Given the description of an element on the screen output the (x, y) to click on. 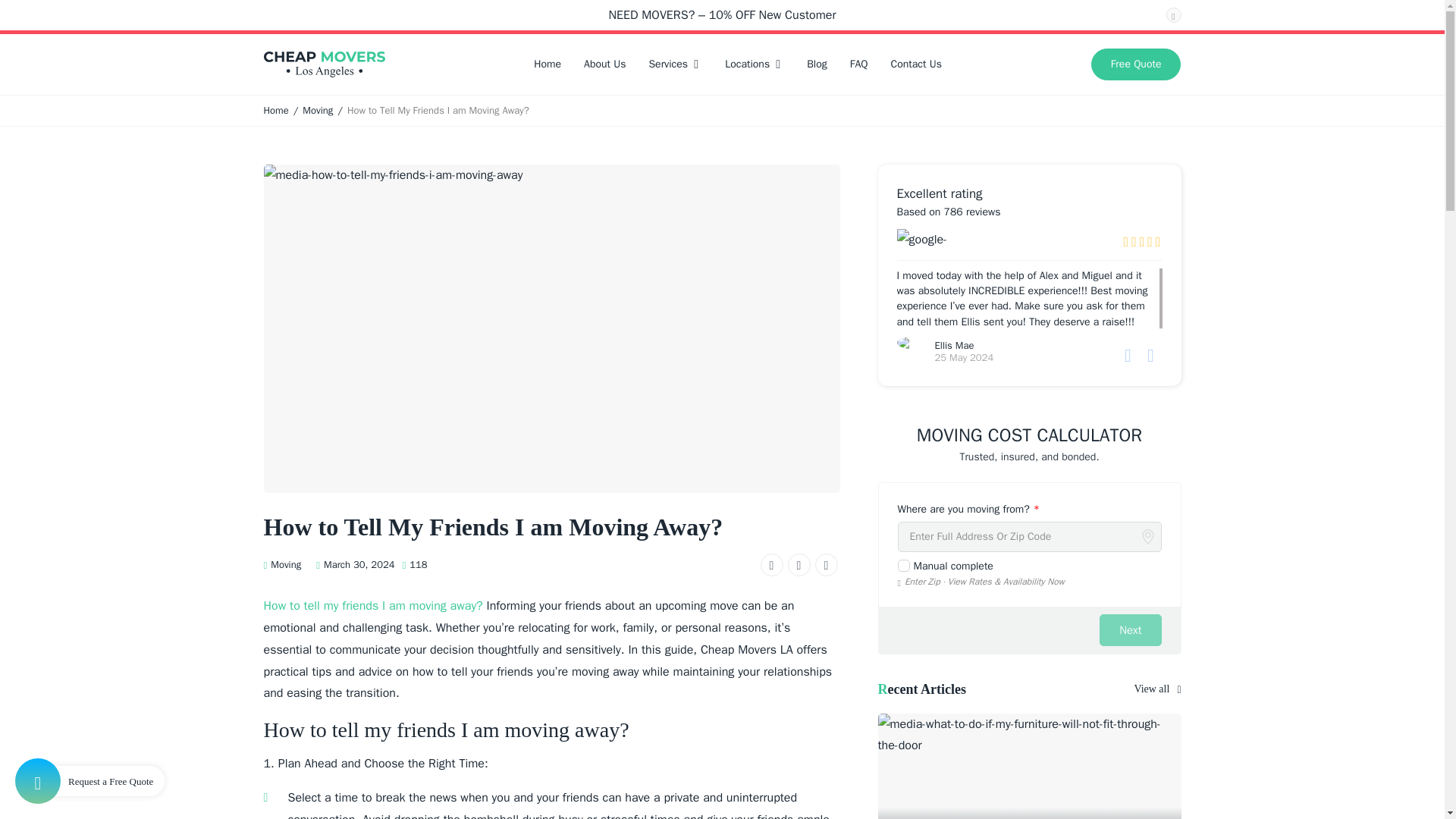
yes (904, 565)
Locations (753, 64)
Services (675, 64)
